Given the description of an element on the screen output the (x, y) to click on. 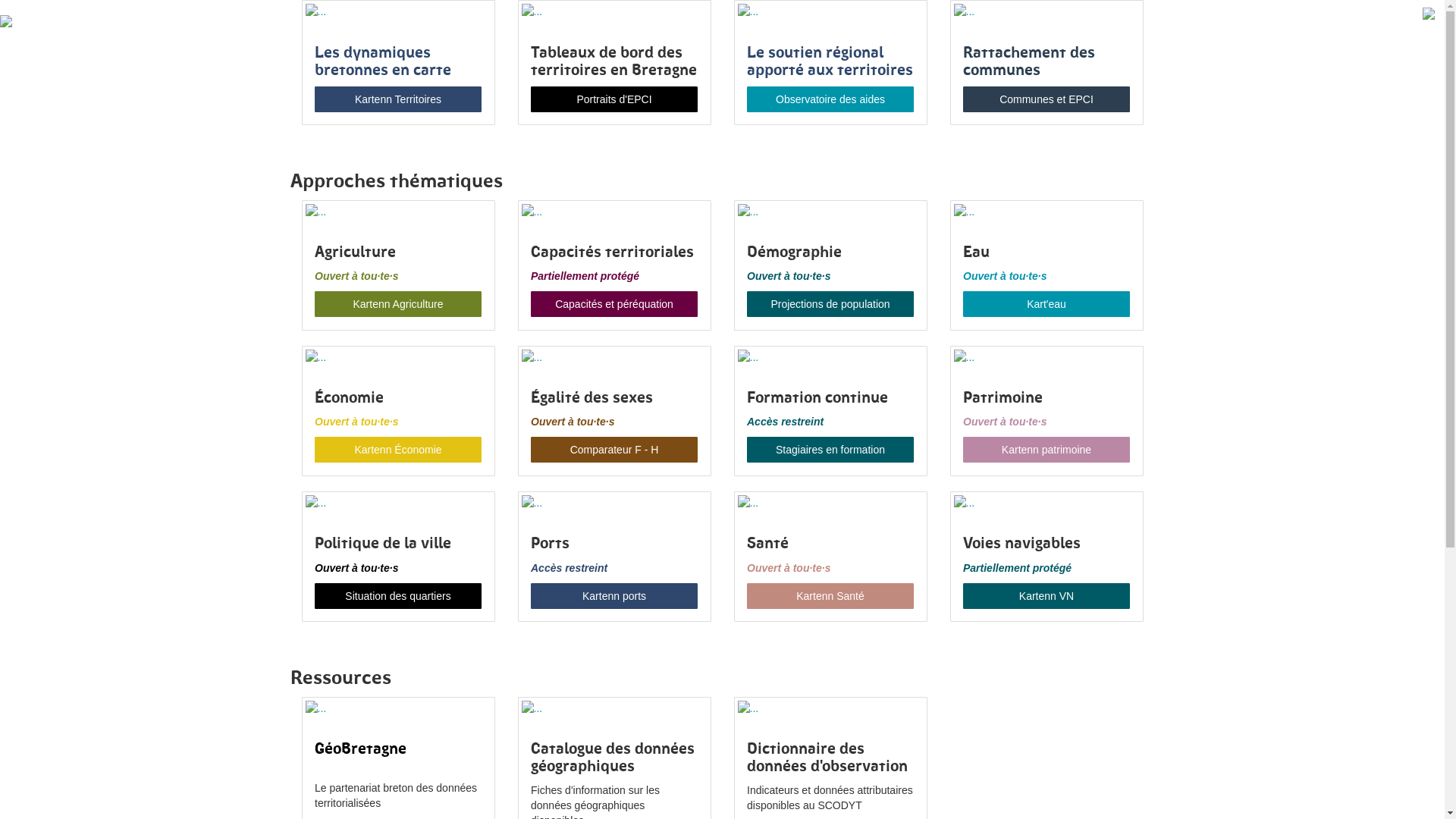
Charger l'application Element type: hover (614, 10)
Kartenn ports Element type: text (613, 595)
Charger l'application Element type: hover (397, 10)
Kartenn Agriculture Element type: text (397, 303)
Kartenn patrimoine Element type: text (1046, 449)
Kart'eau Element type: text (1046, 303)
Charger l'application Element type: hover (829, 211)
Comparateur F - H Element type: text (613, 449)
Charger l'application Element type: hover (397, 356)
Charger l'application Element type: hover (614, 211)
Communes et EPCI Element type: text (1046, 99)
Charger l'application Element type: hover (614, 356)
Observatoire des aides Element type: text (829, 99)
Situation des quartiers Element type: text (397, 595)
Charger l'application Element type: hover (1046, 356)
Charger l'application Element type: hover (397, 707)
Kartenn Territoires Element type: text (397, 99)
Charger l'application Element type: hover (1046, 10)
Charger l'application Element type: hover (1046, 502)
Charger l'application Element type: hover (614, 502)
Projections de population Element type: text (829, 303)
Charger l'application Element type: hover (829, 707)
Portraits d'EPCI Element type: text (613, 99)
Stagiaires en formation Element type: text (829, 449)
Charger l'application Element type: hover (614, 707)
Charger l'application Element type: hover (829, 356)
Kartenn VN Element type: text (1046, 595)
Charger l'application Element type: hover (397, 211)
Charger l'application Element type: hover (397, 502)
Charger l'application Element type: hover (829, 10)
Charger l'application Element type: hover (1046, 211)
Charger l'application Element type: hover (829, 502)
